Given the description of an element on the screen output the (x, y) to click on. 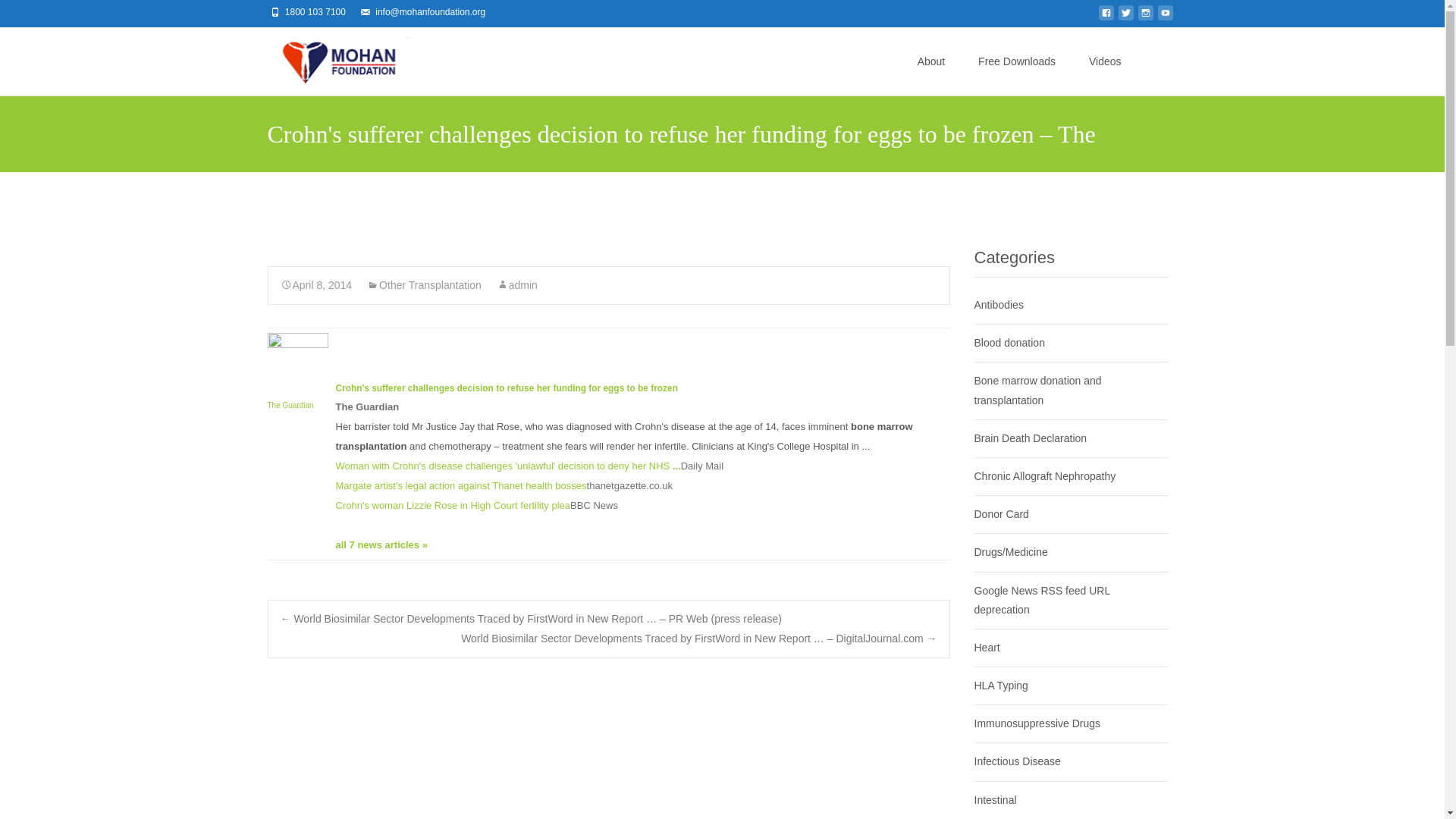
Donor Card (1000, 513)
Other Transplantation (423, 285)
Chronic Allograft Nephropathy (1044, 476)
instagram (1145, 17)
View all posts by admin (516, 285)
twitter (1125, 17)
Crohn's woman Lizzie Rose in High Court fertility plea (452, 505)
youtube (1164, 17)
Google News RSS feed URL deprecation (1041, 599)
The Guardian (296, 383)
